Given the description of an element on the screen output the (x, y) to click on. 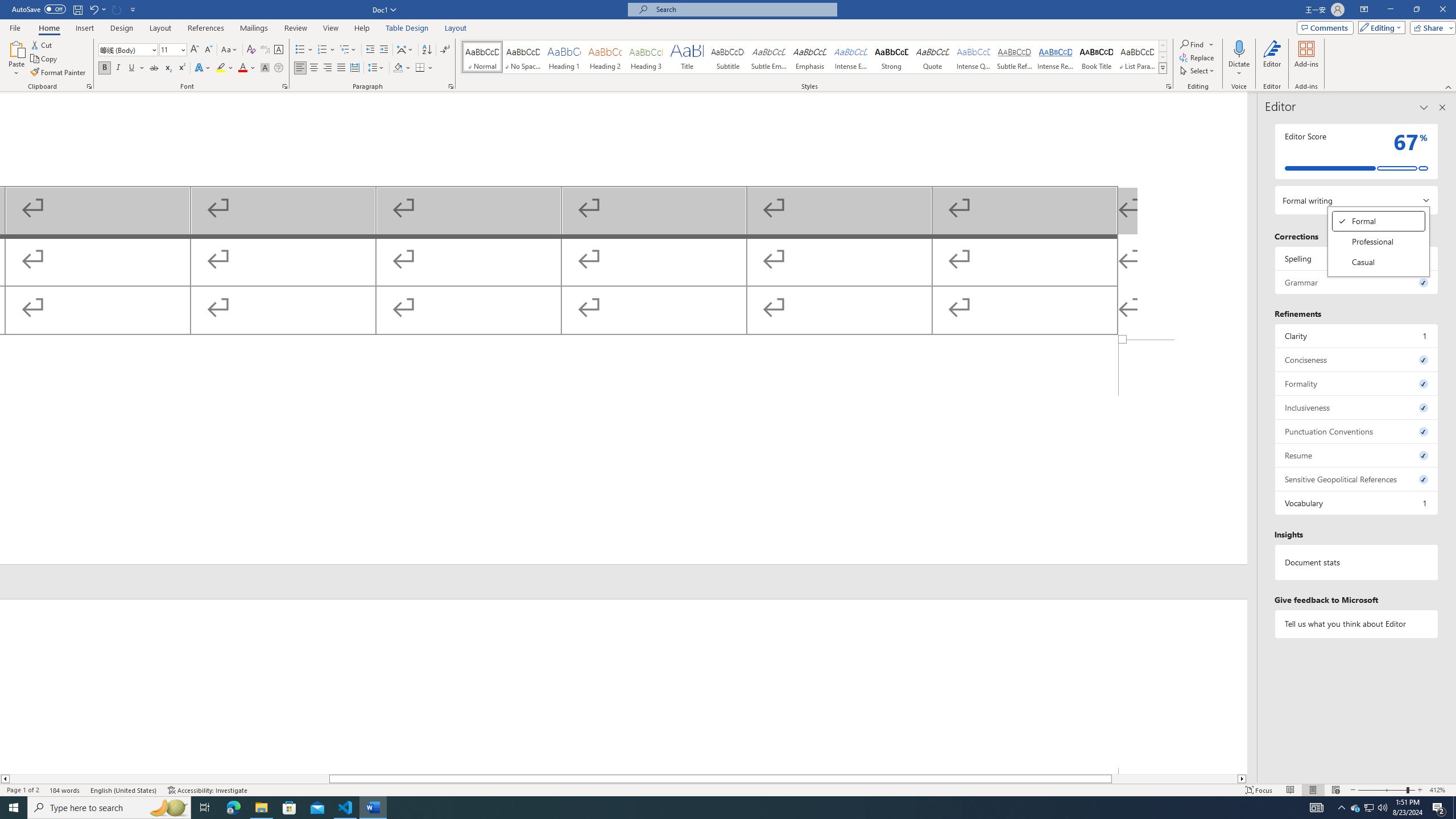
Heading 3 (646, 56)
Class: Net UI Tool Window (1378, 241)
Font Color Red (241, 67)
AutomationID: QuickStylesGallery (814, 56)
